Given the description of an element on the screen output the (x, y) to click on. 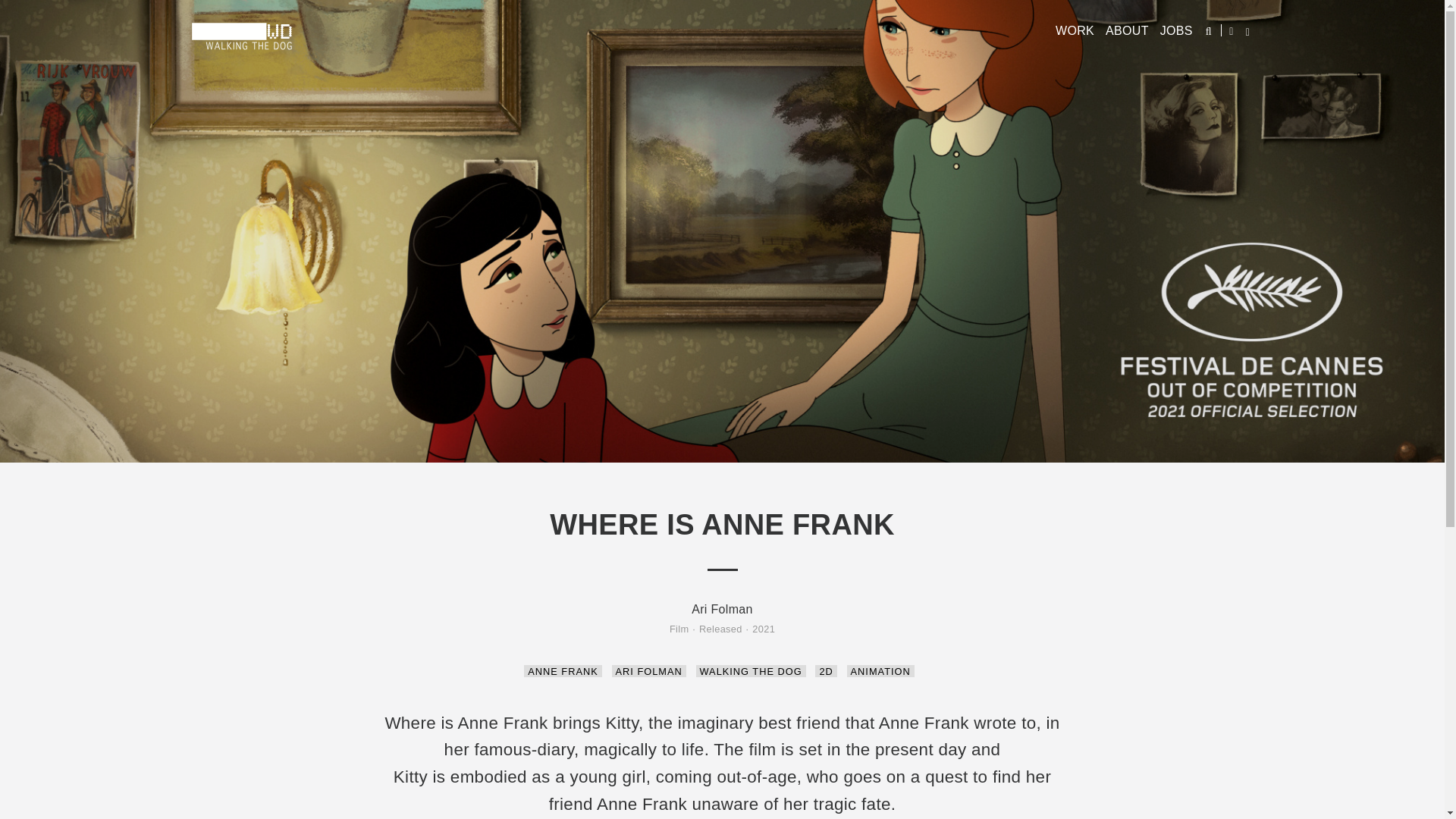
ANNE FRANK (562, 671)
2D (825, 671)
ABOUT (1126, 30)
WORK (1074, 30)
ARI FOLMAN (648, 671)
ANIMATION (880, 671)
WALKING THE DOG (750, 671)
JOBS (1176, 30)
